Given the description of an element on the screen output the (x, y) to click on. 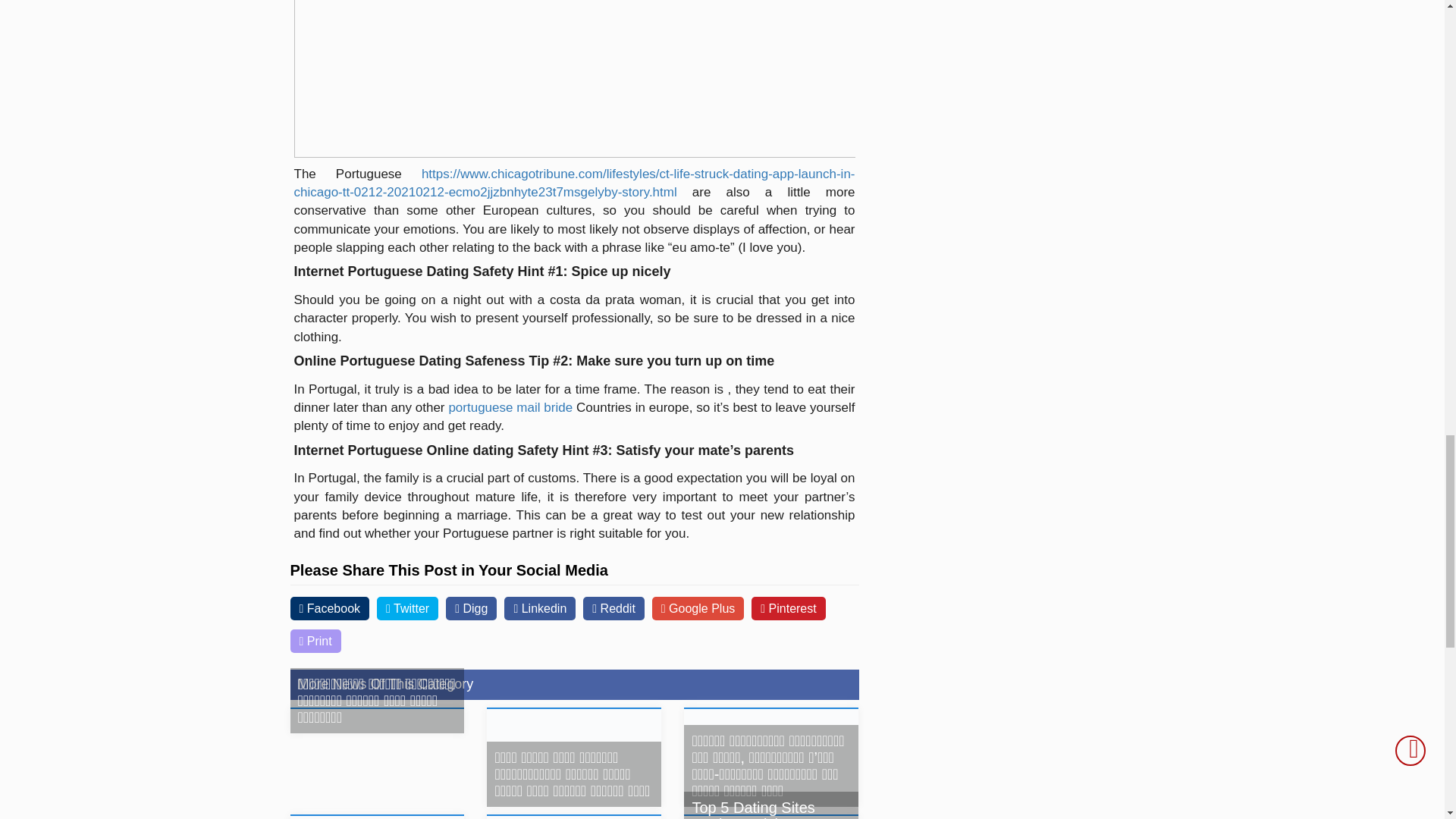
Twitter (407, 608)
Facebook (329, 608)
Linkedin (539, 608)
Reddit (614, 608)
Digg (470, 608)
portuguese mail bride (510, 407)
